Given the description of an element on the screen output the (x, y) to click on. 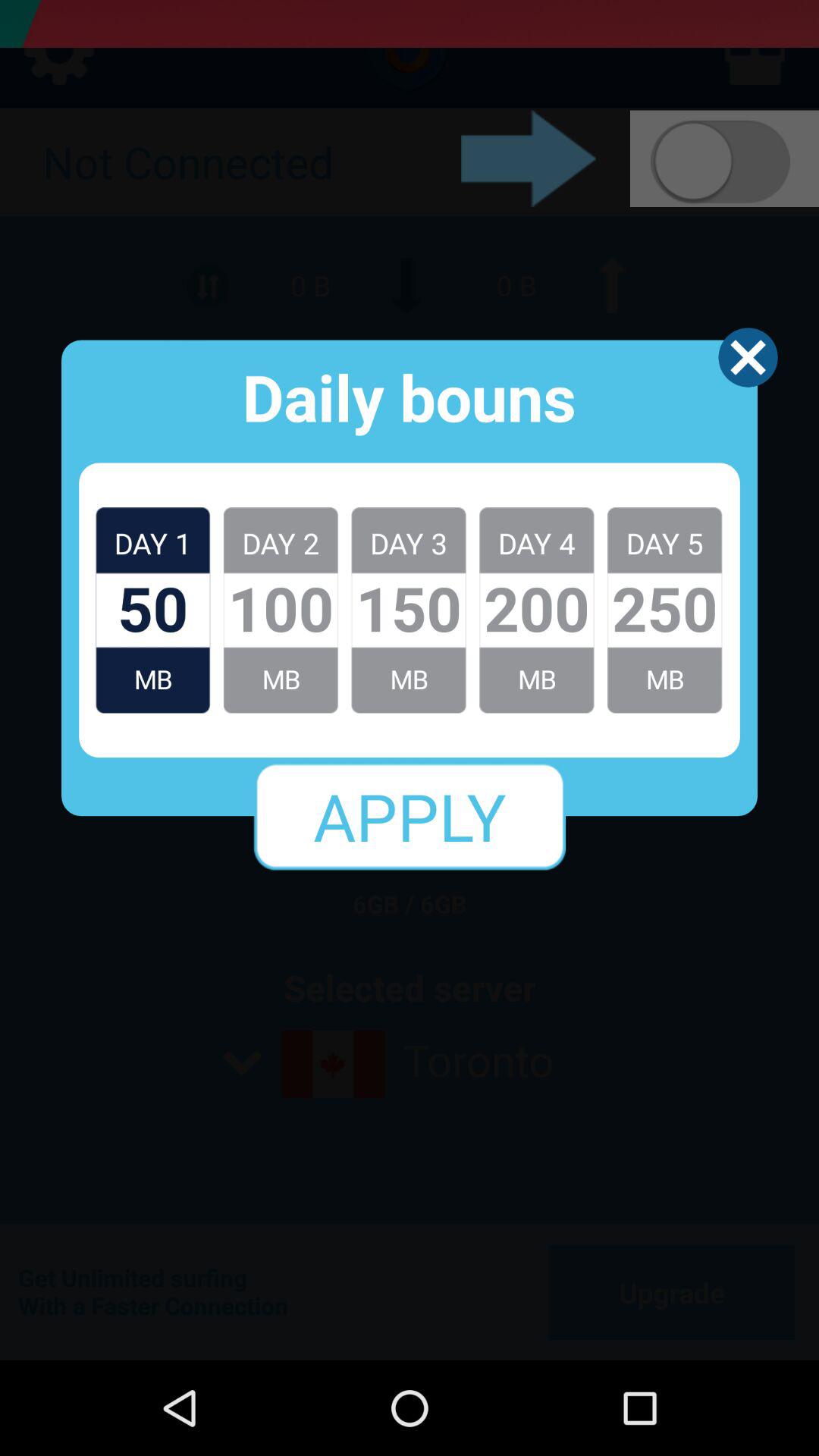
press app next to the daily bouns app (747, 357)
